Given the description of an element on the screen output the (x, y) to click on. 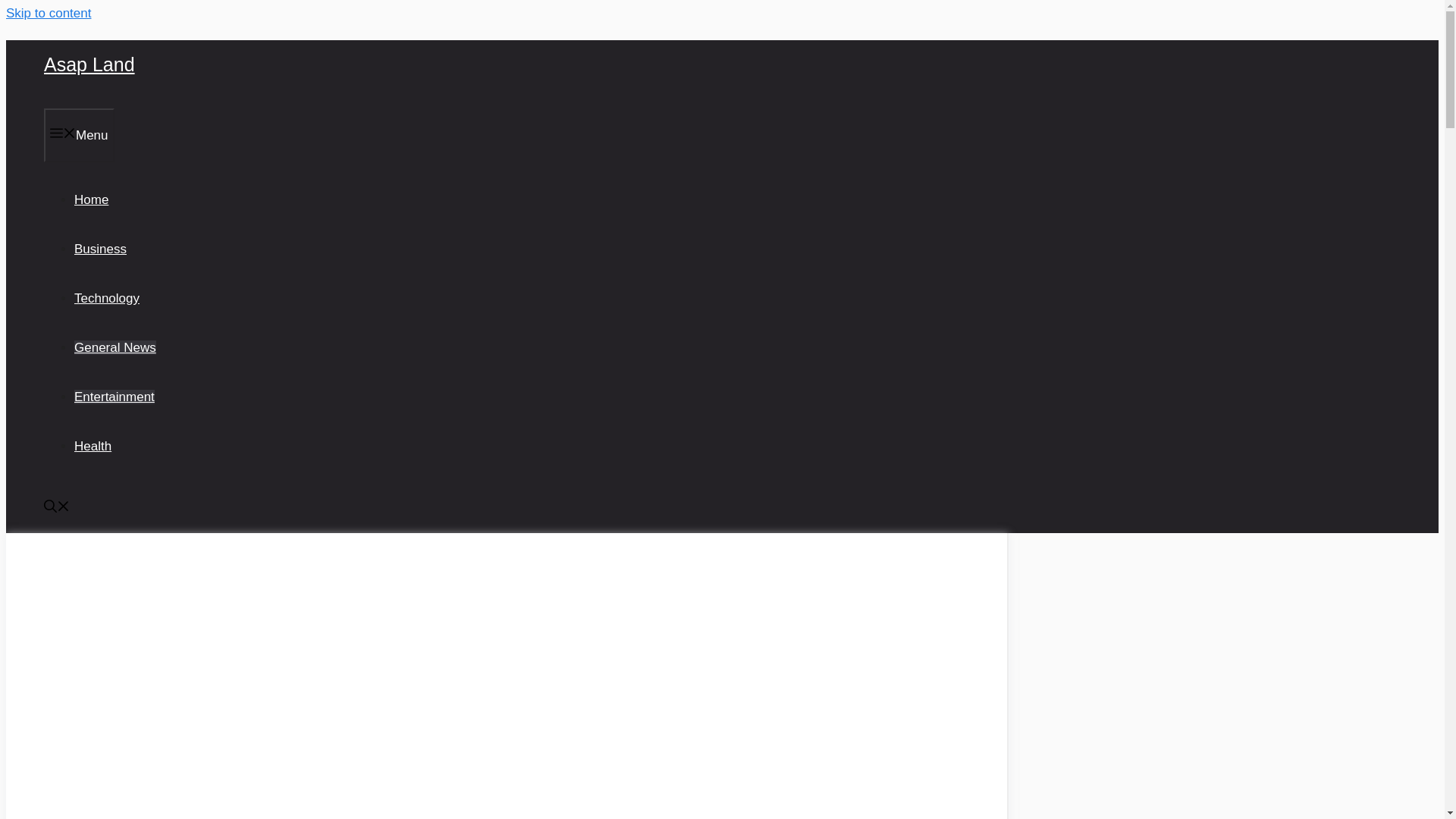
Entertainment (114, 396)
Asap Land (89, 64)
Technology (106, 298)
Health (93, 445)
Skip to content (47, 12)
Business (100, 248)
Skip to content (47, 12)
General News (114, 347)
Menu (79, 135)
Home (90, 199)
